Given the description of an element on the screen output the (x, y) to click on. 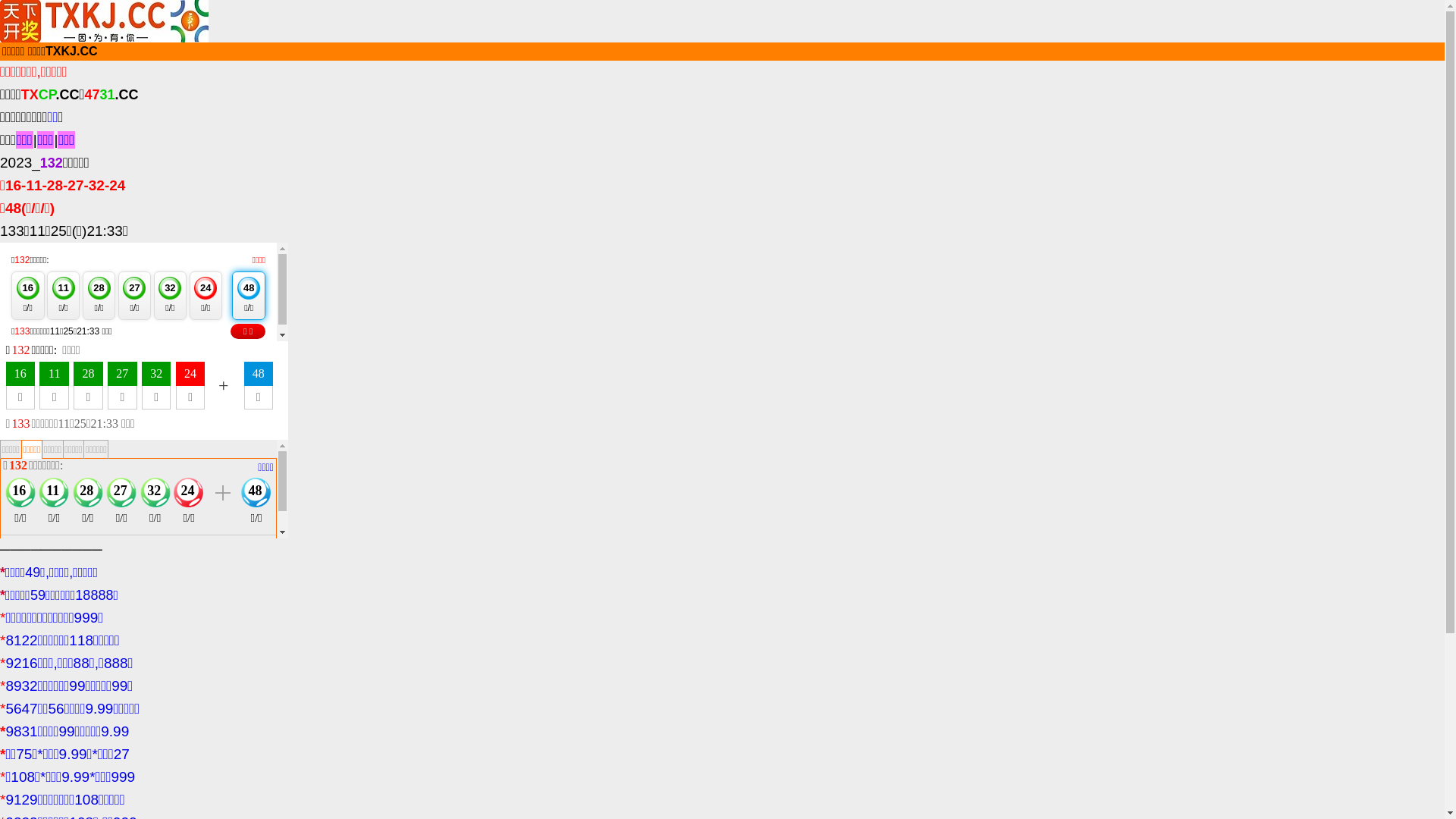
TXCP.CC Element type: text (50, 94)
4731.CC Element type: text (111, 94)
